Given the description of an element on the screen output the (x, y) to click on. 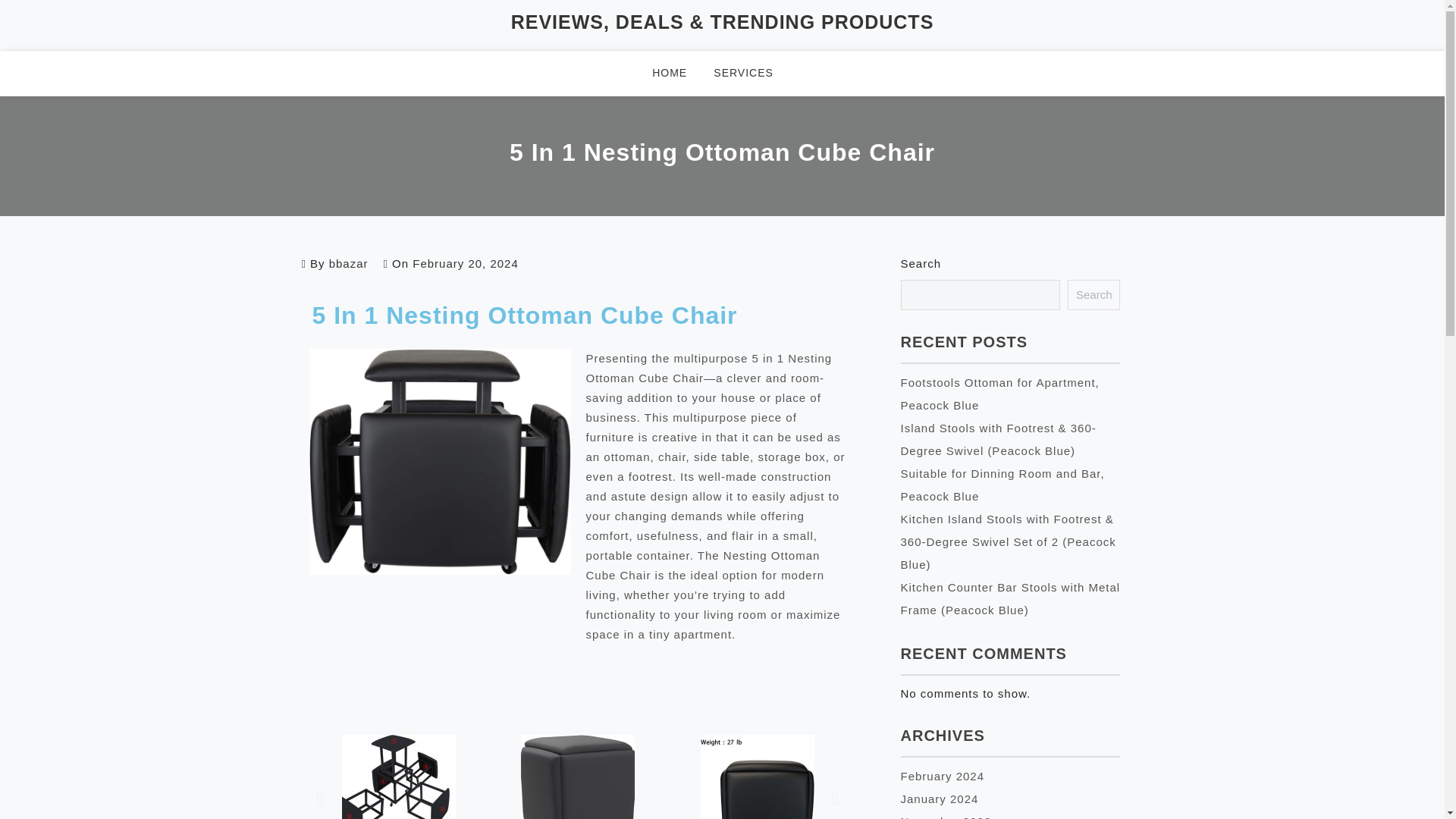
Suitable for Dinning Room and Bar, Peacock Blue (1003, 484)
February 20, 2024 (465, 263)
February 2024 (943, 775)
HOME (679, 73)
bbazar (348, 263)
November 2023 (946, 816)
Search (1094, 295)
Footstools Ottoman for Apartment, Peacock Blue (1000, 393)
SERVICES (752, 73)
January 2024 (939, 798)
